Given the description of an element on the screen output the (x, y) to click on. 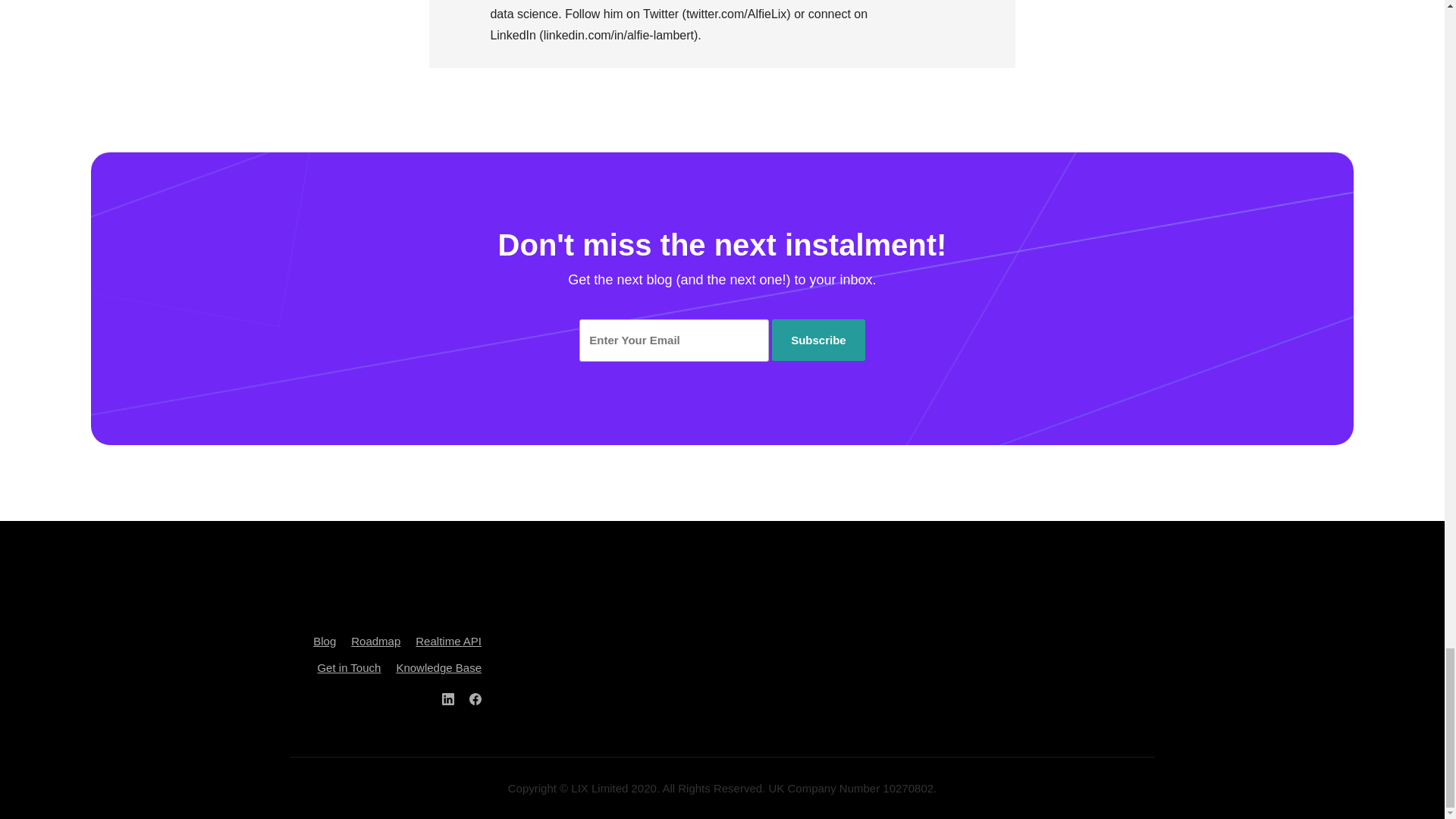
Blog (324, 641)
Subscribe (817, 340)
Realtime API (448, 641)
Knowledge Base (438, 667)
Subscribe (817, 340)
Get in Touch (348, 667)
Roadmap (375, 641)
